Given the description of an element on the screen output the (x, y) to click on. 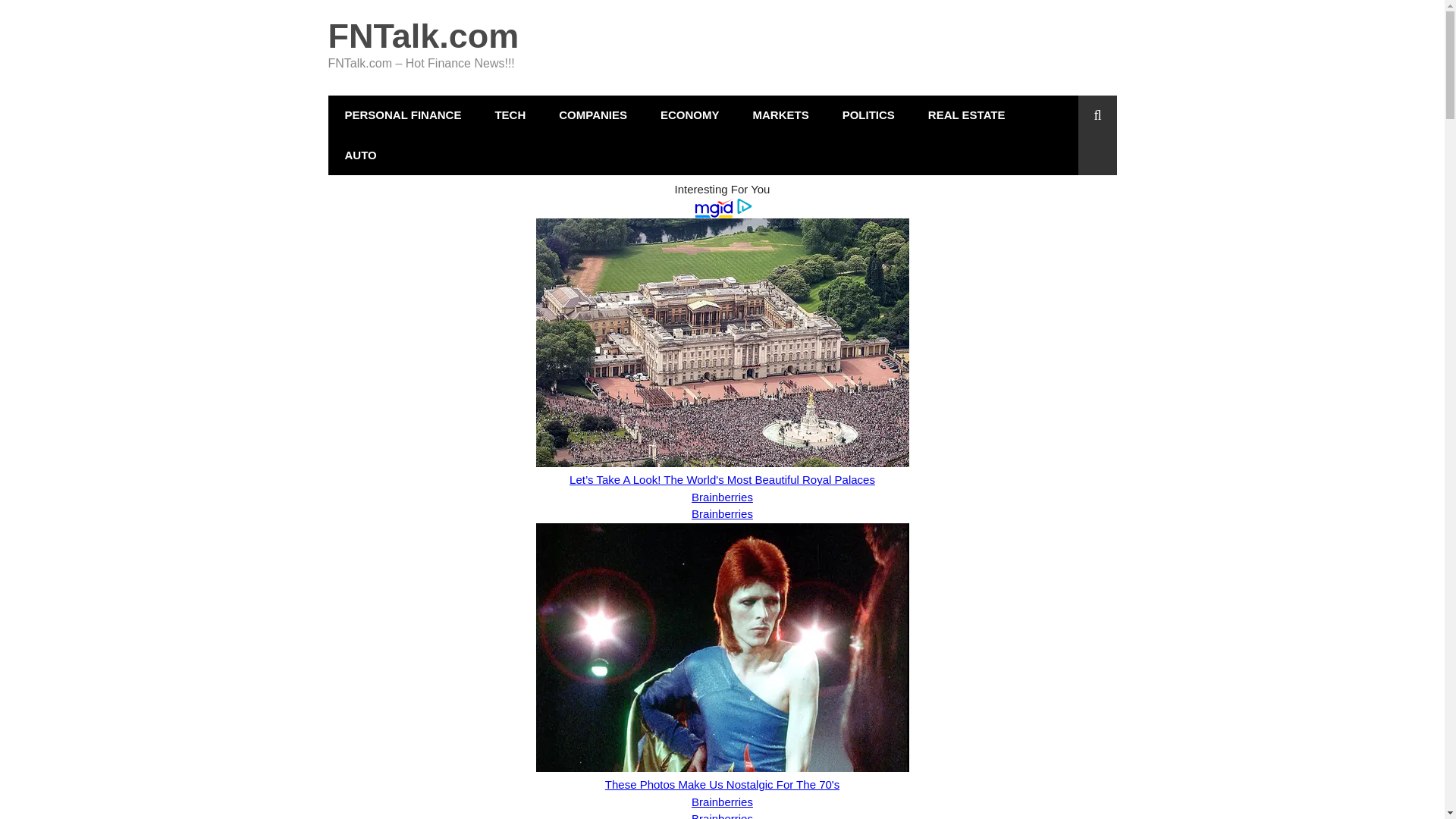
PERSONAL FINANCE (402, 115)
AUTO (360, 155)
ECONOMY (689, 115)
REAL ESTATE (966, 115)
POLITICS (868, 115)
MARKETS (780, 115)
COMPANIES (592, 115)
TECH (509, 115)
FNTalk.com (422, 35)
